Given the description of an element on the screen output the (x, y) to click on. 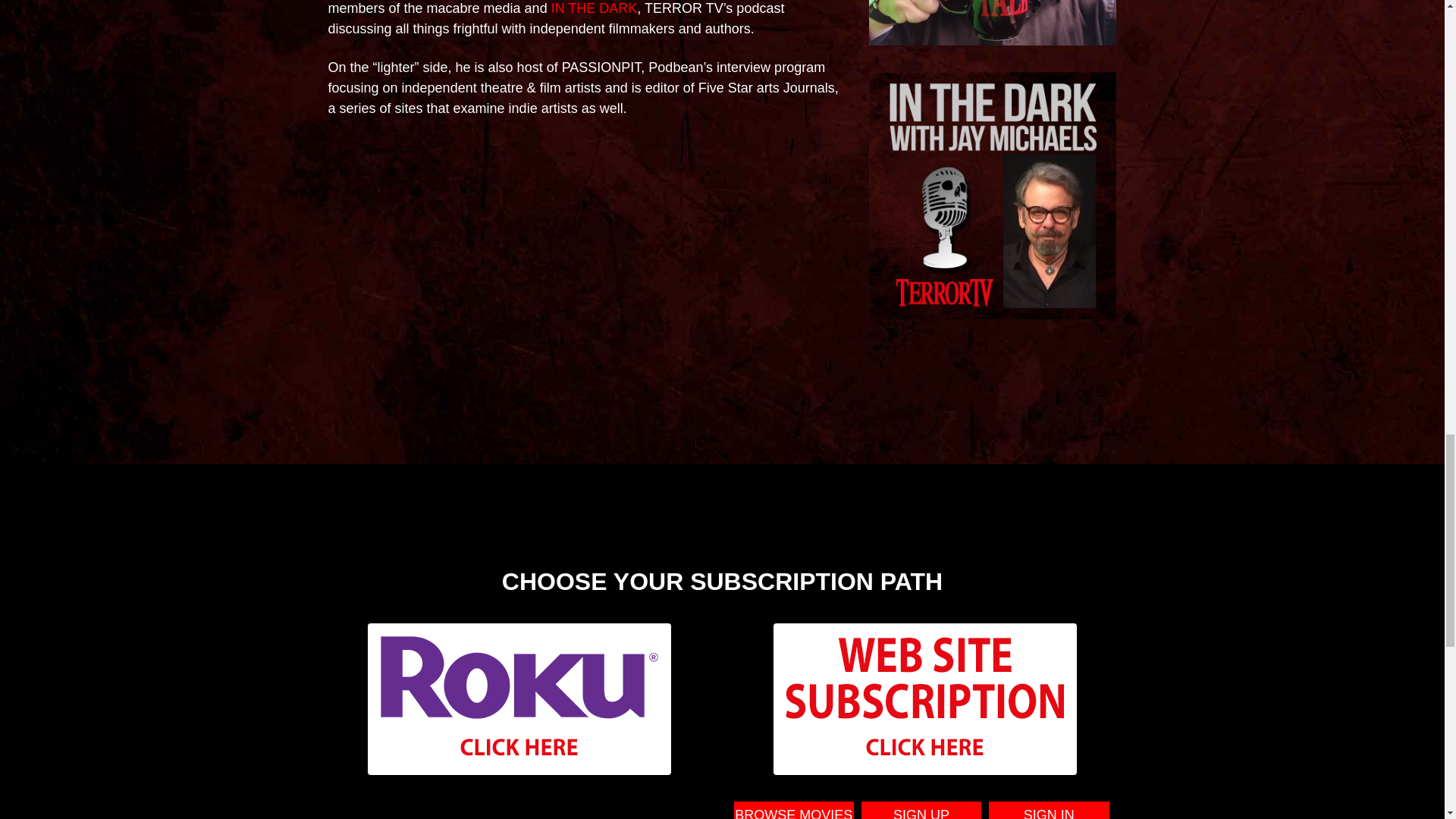
IN THE DARK (594, 7)
choose-website (925, 698)
SIGN IN (1048, 813)
choose-Roku (519, 698)
SIGN UP (921, 813)
BROWSE MOVIES (793, 813)
TT mug (992, 22)
inthedark-profile (992, 196)
